Given the description of an element on the screen output the (x, y) to click on. 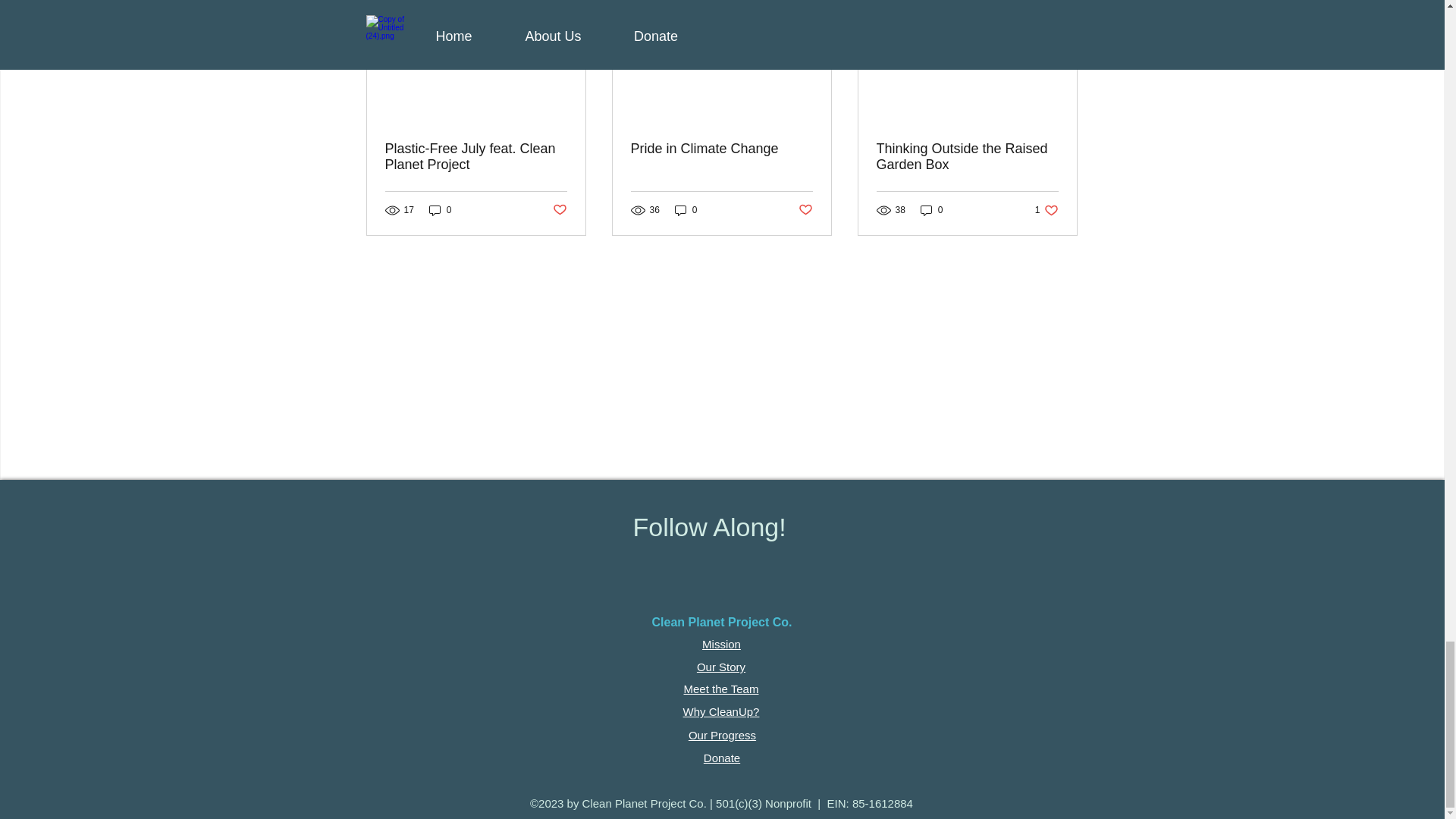
Post not marked as liked (804, 210)
0 (440, 210)
0 (931, 210)
Pride in Climate Change (721, 148)
Thinking Outside the Raised Garden Box (967, 156)
0 (685, 210)
Plastic-Free July feat. Clean Planet Project (1046, 210)
Post not marked as liked (476, 156)
